Given the description of an element on the screen output the (x, y) to click on. 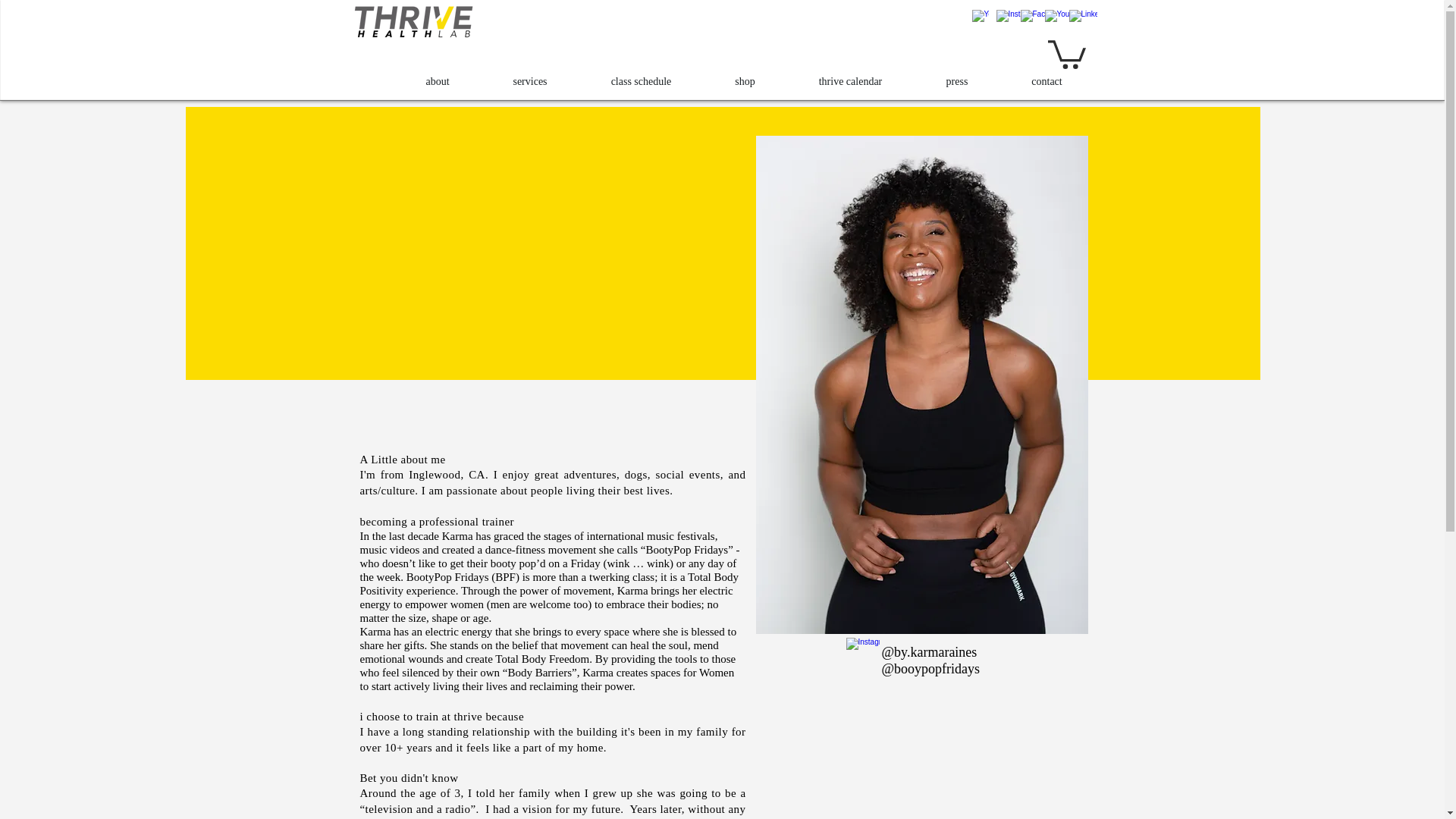
about (437, 81)
thrive calendar (850, 81)
press (957, 81)
class schedule (641, 81)
contact (1045, 81)
shop (745, 81)
